Given the description of an element on the screen output the (x, y) to click on. 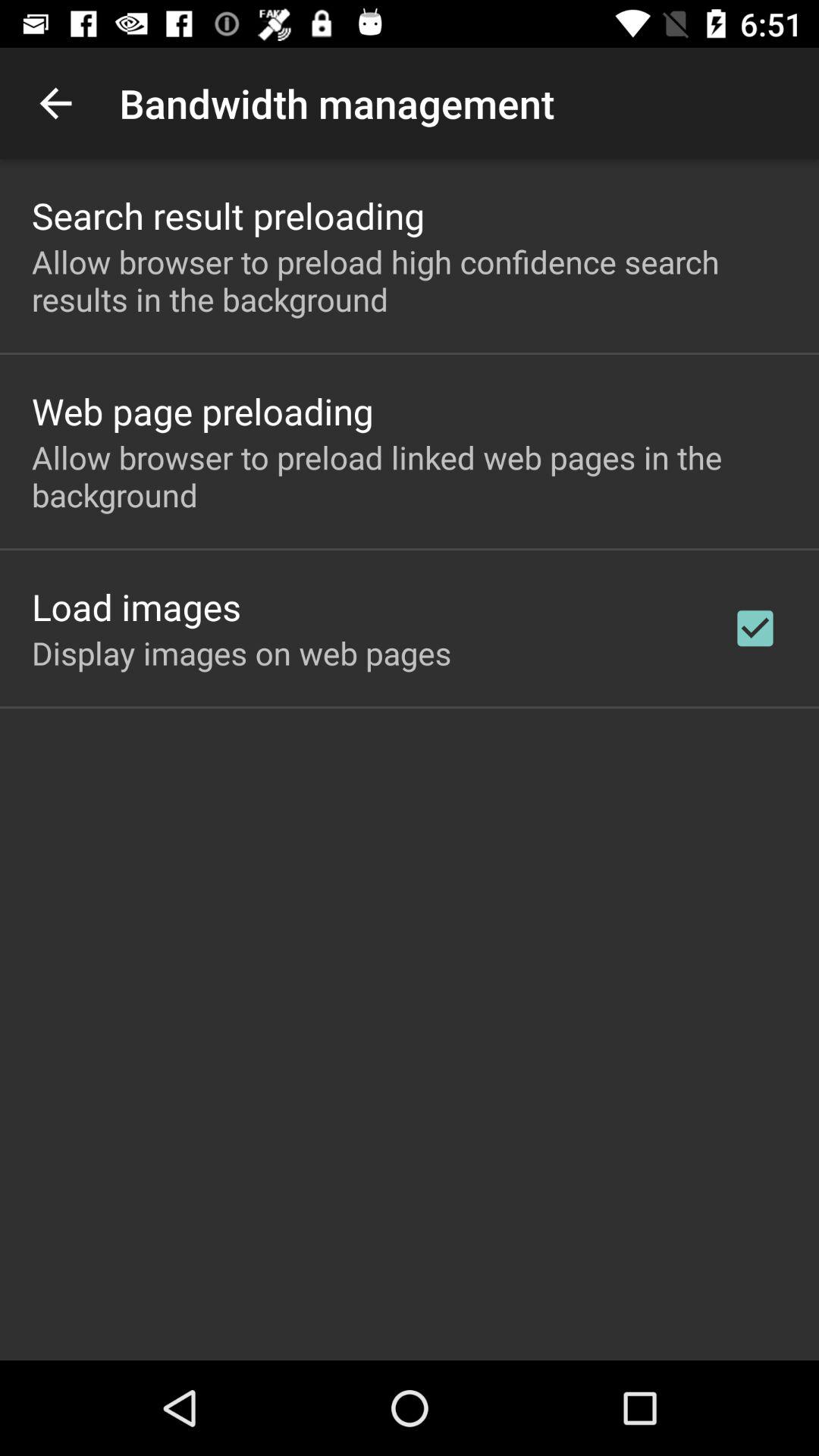
swipe to the load images item (136, 606)
